Given the description of an element on the screen output the (x, y) to click on. 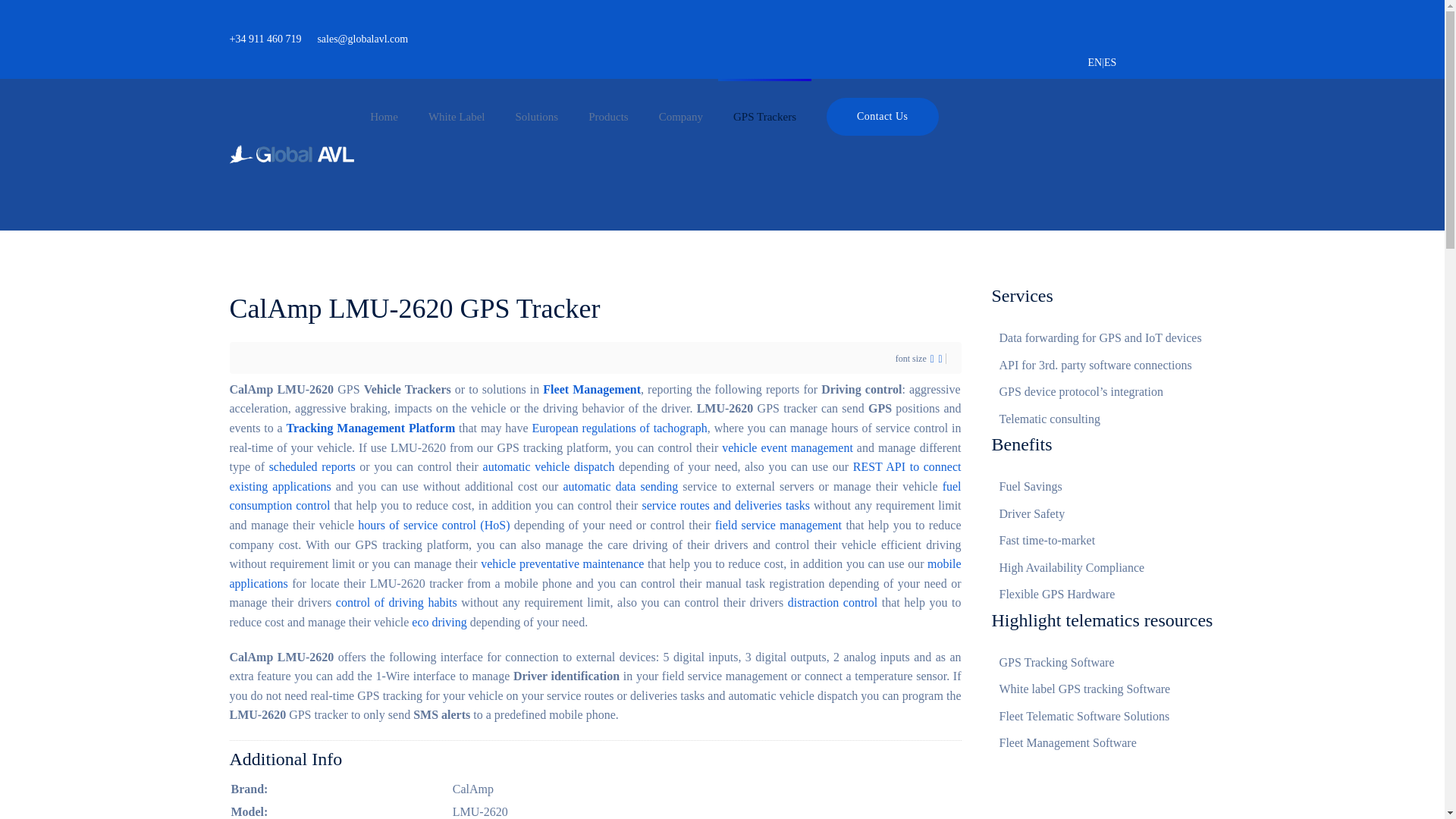
Youtube (1206, 30)
Company (680, 116)
Twitter (1174, 30)
Facebook (1111, 30)
Linkedin (1143, 30)
